Given the description of an element on the screen output the (x, y) to click on. 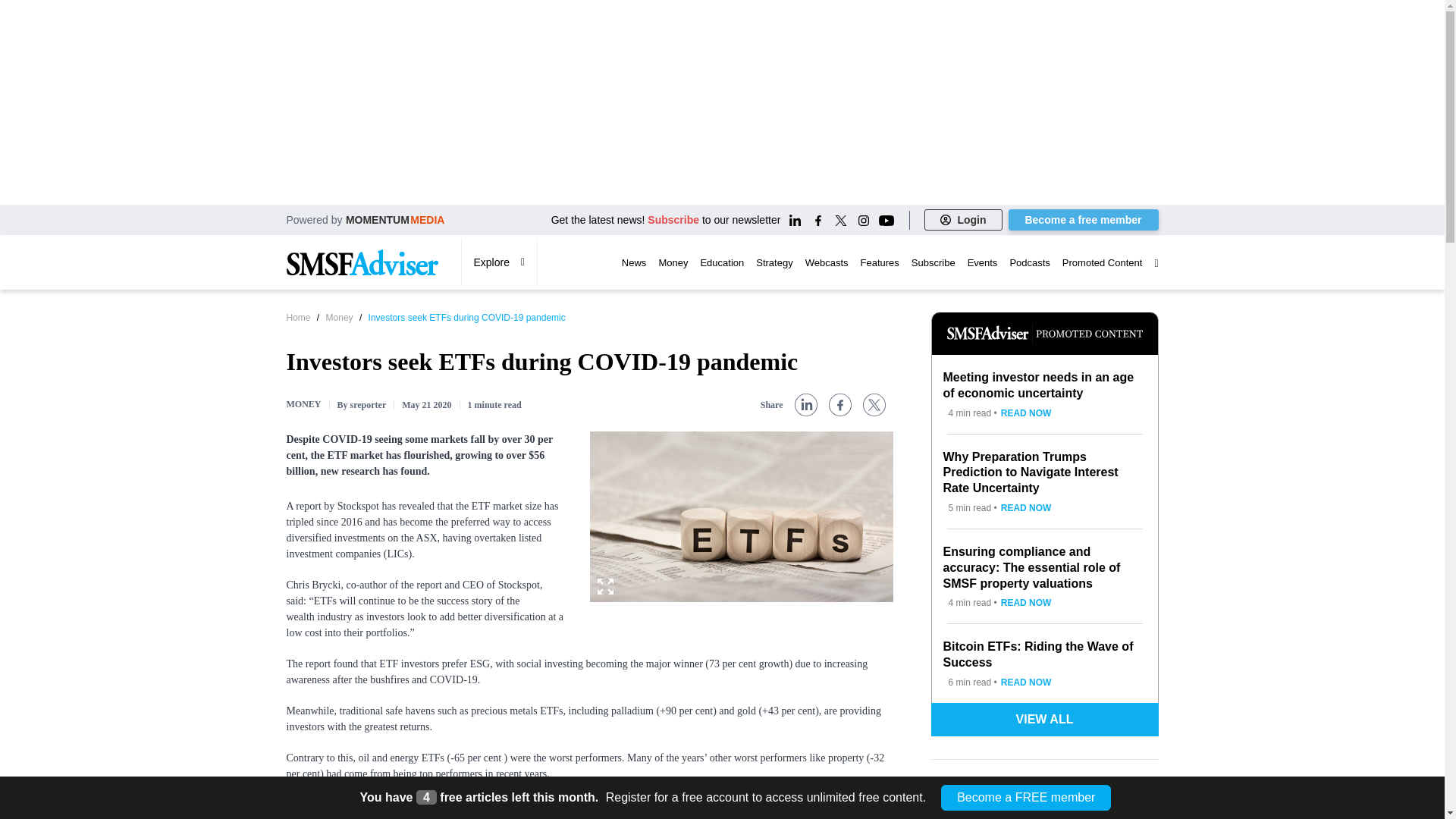
Become a FREE member (1025, 797)
Become a free member (1083, 219)
Login (962, 219)
Subscribe (672, 219)
Become a FREE member (1025, 797)
MOMENTUM MEDIA (395, 219)
Zoom In (604, 586)
